Given the description of an element on the screen output the (x, y) to click on. 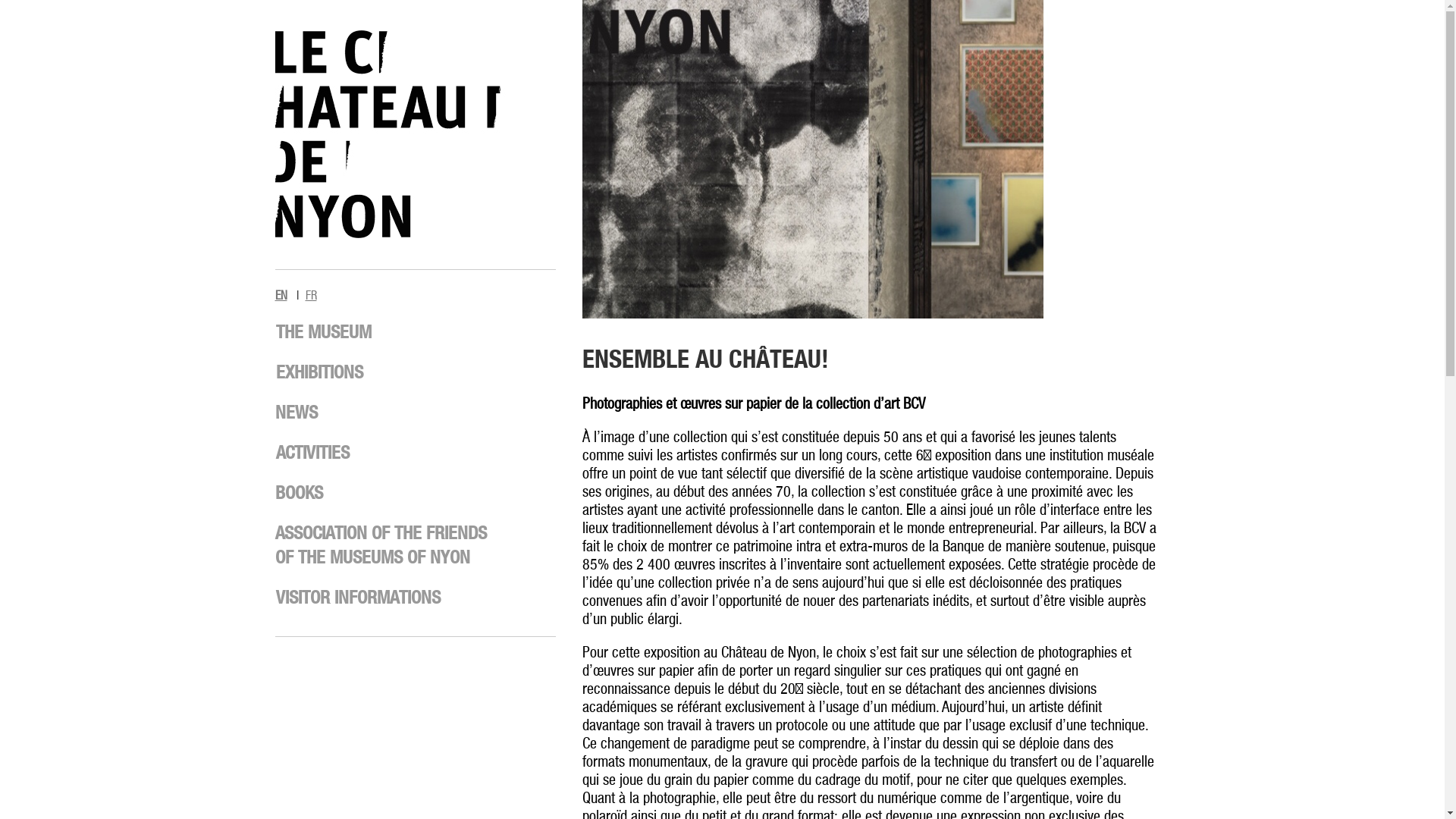
EXHIBITIONS Element type: text (319, 371)
Musee de la porcelaine Element type: hover (414, 235)
NEWS Element type: text (295, 411)
BOOKS Element type: text (298, 491)
EN Element type: text (280, 295)
ASSOCIATION OF THE FRIENDS OF THE MUSEUMS OF NYON Element type: text (380, 544)
ACTIVITIES Element type: text (312, 451)
FR Element type: text (310, 295)
THE MUSEUM Element type: text (323, 331)
VISITOR INFORMATIONS Element type: text (358, 596)
